Given the description of an element on the screen output the (x, y) to click on. 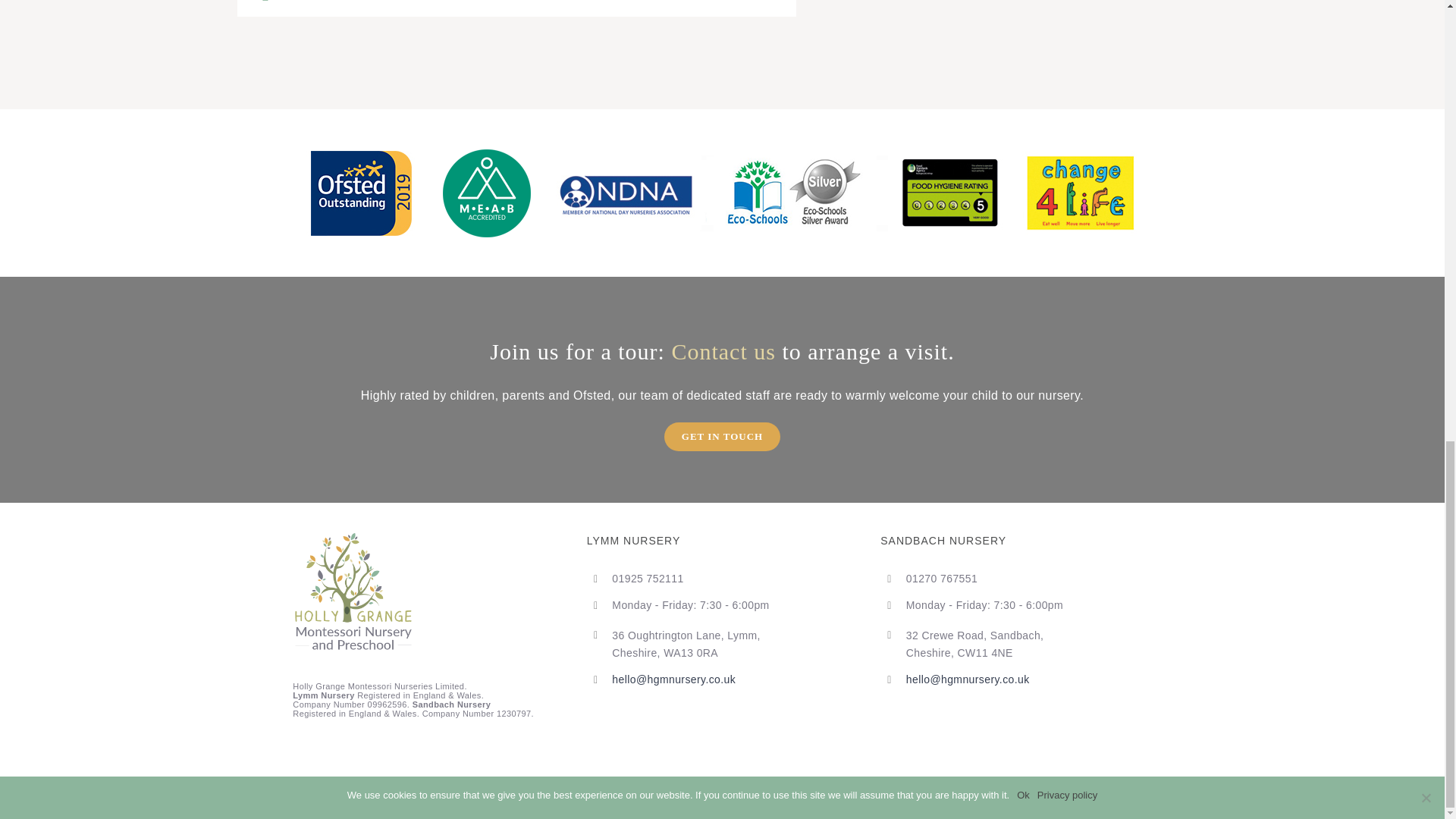
hgm-accreditations-banner-2020.2 (722, 192)
